Given the description of an element on the screen output the (x, y) to click on. 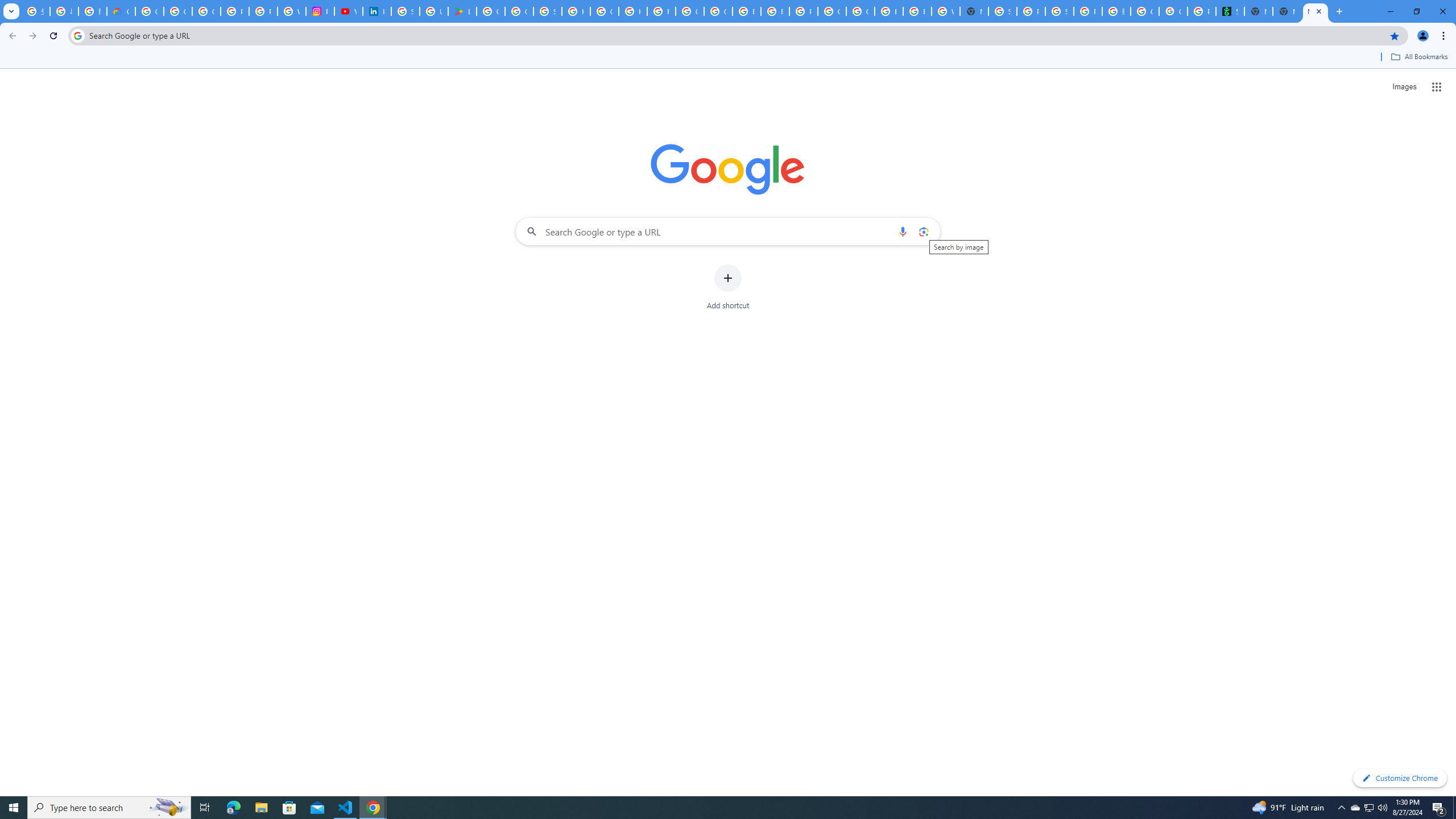
Search by voice (902, 230)
Add shortcut (727, 287)
Sign in - Google Accounts (1002, 11)
Customize Chrome (1399, 778)
Search Google or type a URL (727, 230)
All Bookmarks (1418, 56)
